Given the description of an element on the screen output the (x, y) to click on. 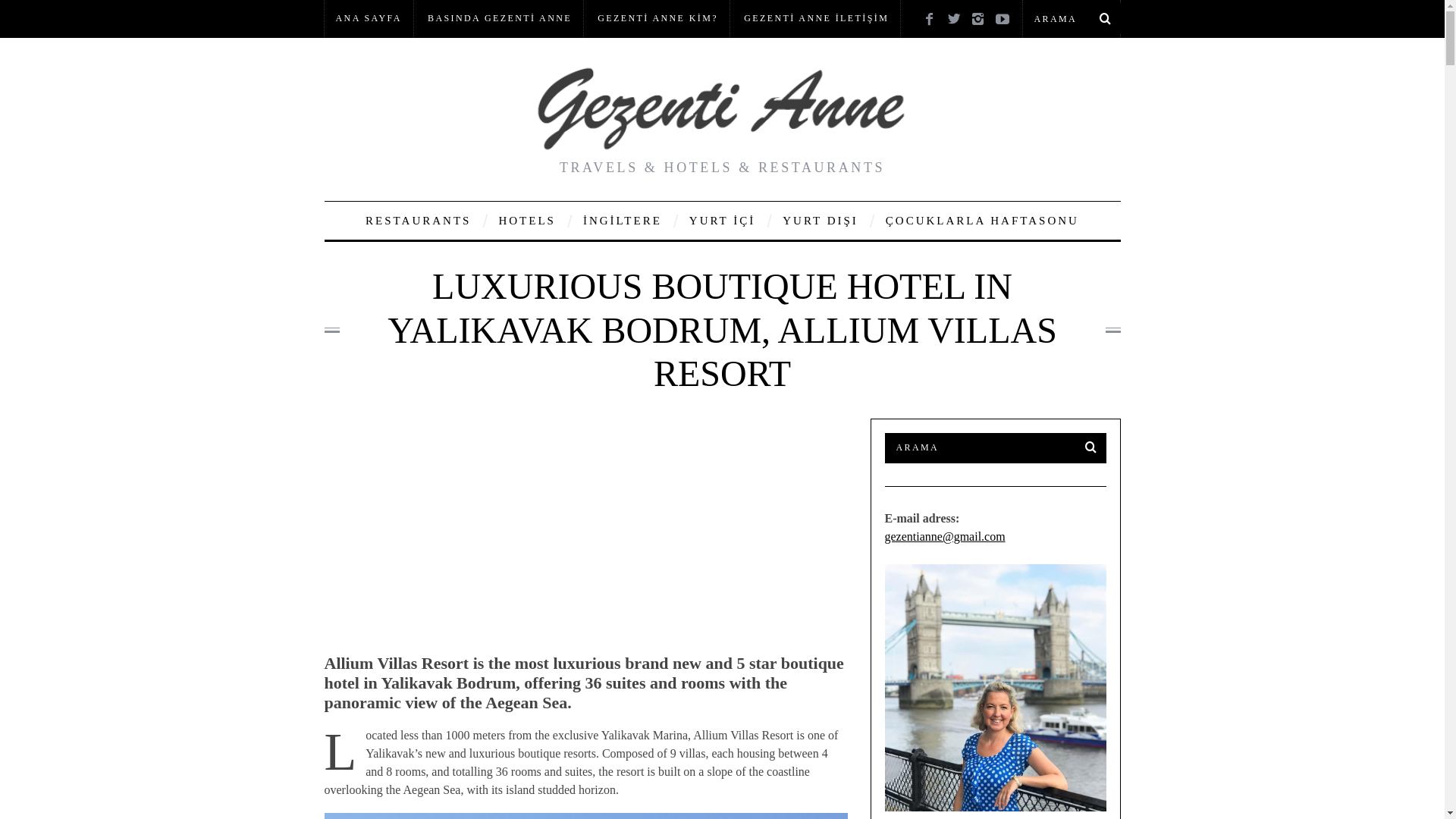
Arama (1071, 18)
Advertisement (585, 524)
Arama (994, 448)
